Given the description of an element on the screen output the (x, y) to click on. 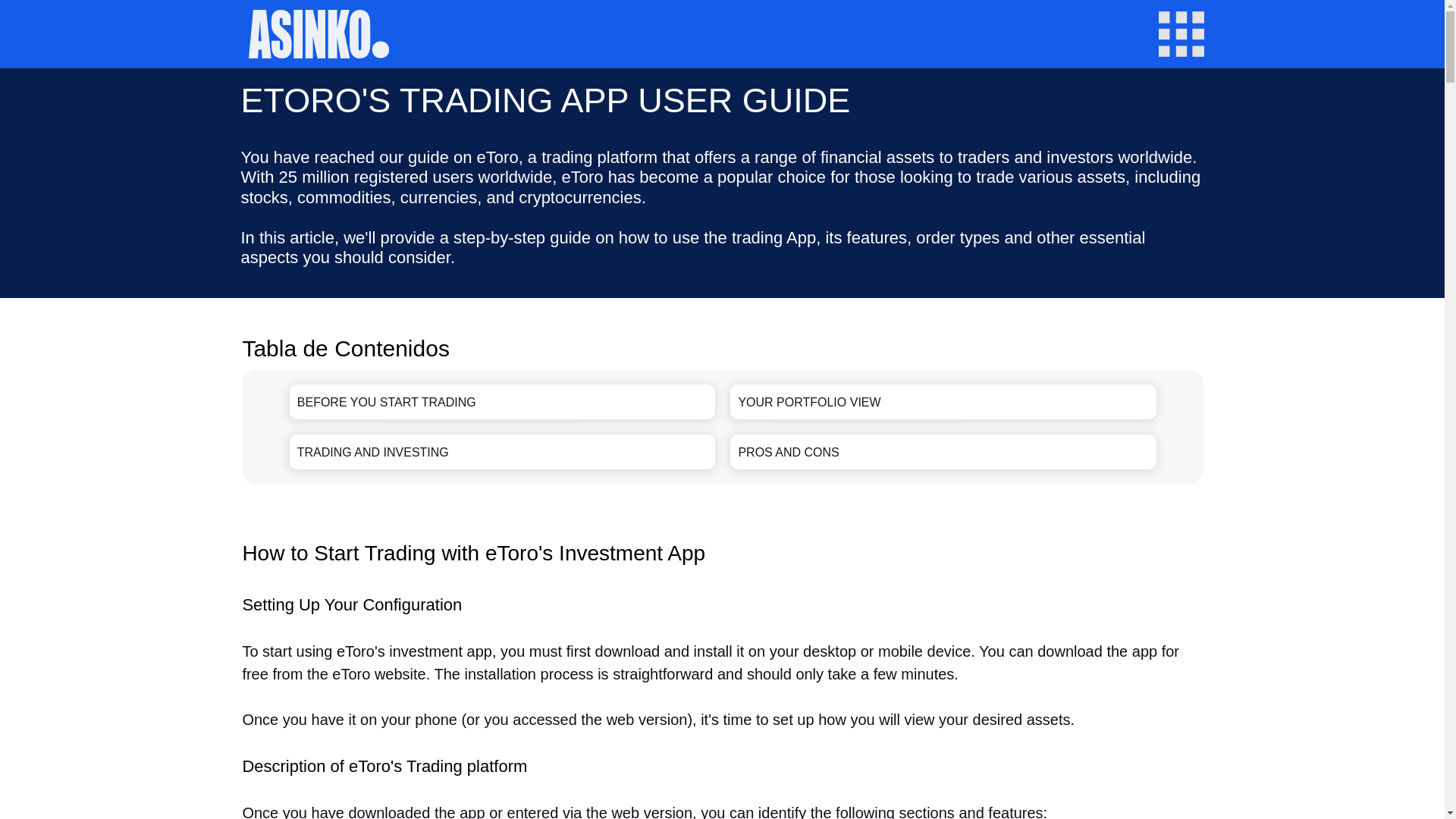
TRADING AND INVESTING (502, 451)
BEFORE YOU START TRADING (502, 401)
PROS AND CONS (943, 451)
YOUR PORTFOLIO VIEW (943, 401)
